Given the description of an element on the screen output the (x, y) to click on. 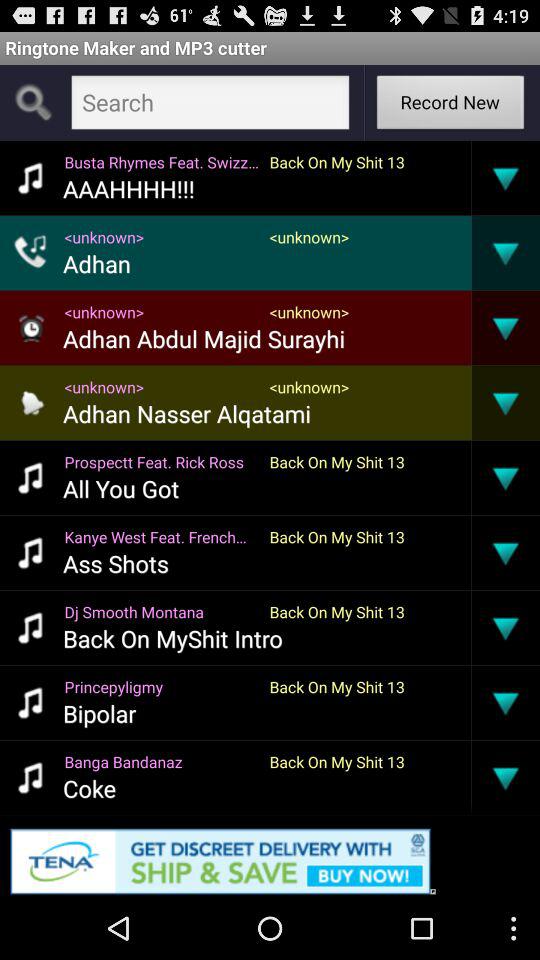
swipe to the bipolar app (99, 713)
